Given the description of an element on the screen output the (x, y) to click on. 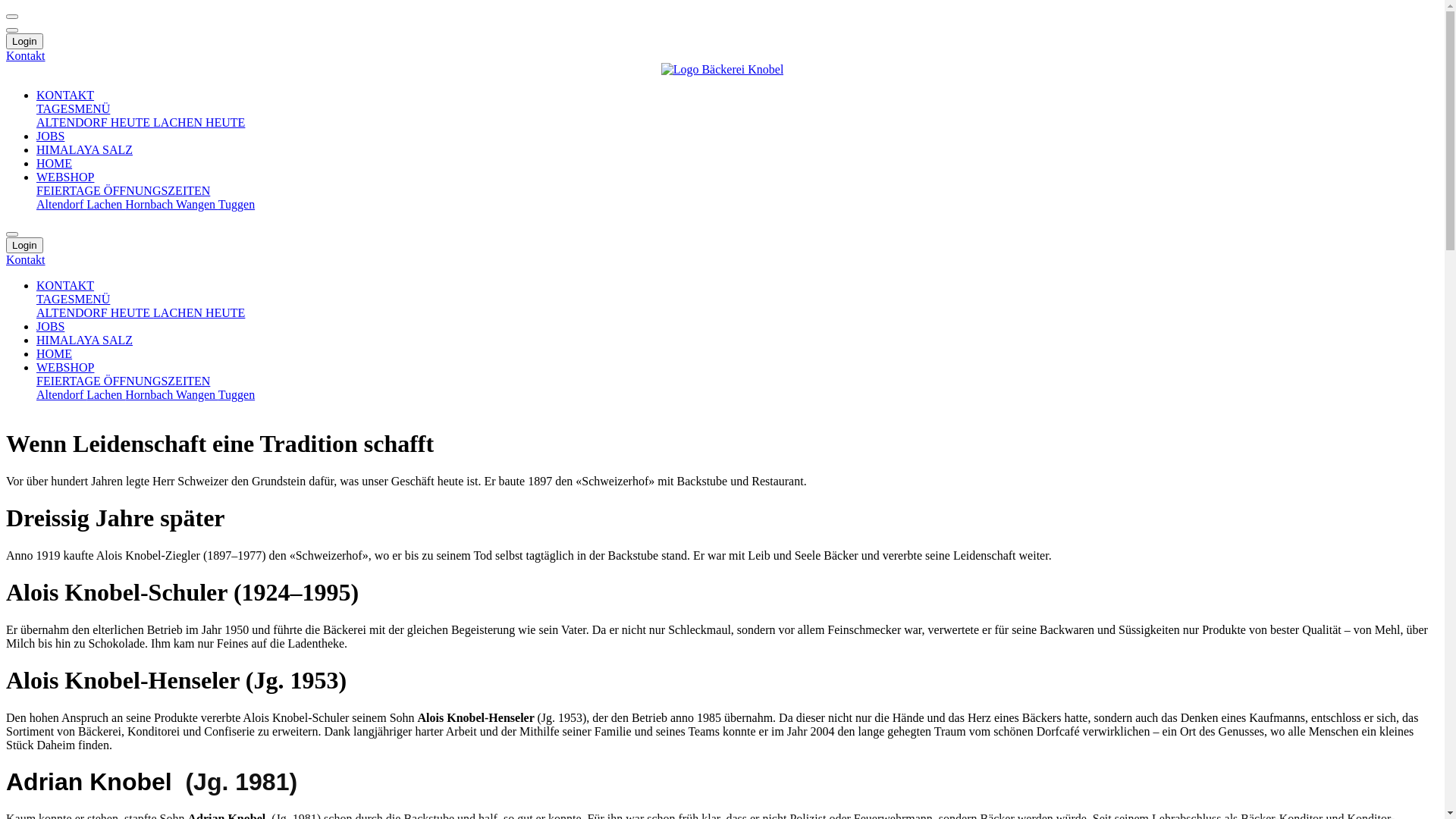
Kontakt Element type: text (25, 55)
KONTAKT Element type: text (65, 285)
HOME Element type: text (54, 353)
Hornbach Wangen Element type: text (171, 203)
Benutzer-Links Element type: hover (12, 234)
Hornbach Wangen Element type: text (171, 394)
Lachen Element type: text (105, 203)
Altendorf Element type: text (61, 394)
LACHEN HEUTE Element type: text (198, 122)
ALTENDORF HEUTE Element type: text (94, 312)
Lachen Element type: text (105, 394)
Tuggen Element type: text (236, 203)
Altendorf Element type: text (61, 203)
Benutzer-Links Element type: hover (12, 30)
Kontakt Element type: text (25, 259)
HIMALAYA SALZ Element type: text (84, 149)
HIMALAYA SALZ Element type: text (84, 339)
Login Element type: text (24, 245)
JOBS Element type: text (50, 135)
LACHEN HEUTE Element type: text (198, 312)
JOBS Element type: text (50, 326)
WEBSHOP Element type: text (65, 366)
WEBSHOP Element type: text (65, 176)
KONTAKT Element type: text (65, 94)
Tuggen Element type: text (236, 394)
HOME Element type: text (54, 162)
Login Element type: text (24, 41)
ALTENDORF HEUTE Element type: text (94, 122)
